Given the description of an element on the screen output the (x, y) to click on. 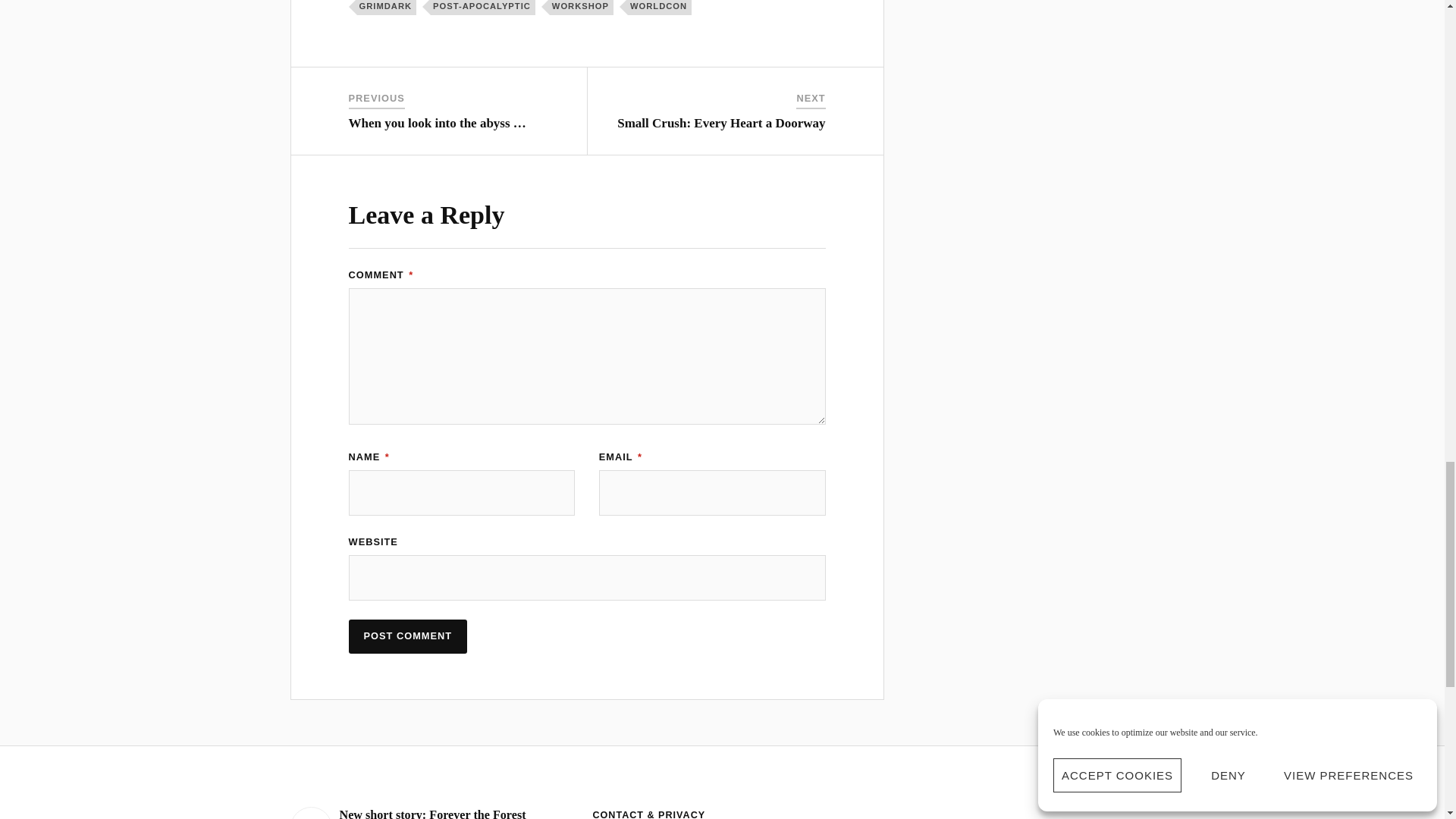
Post Comment (408, 636)
